Given the description of an element on the screen output the (x, y) to click on. 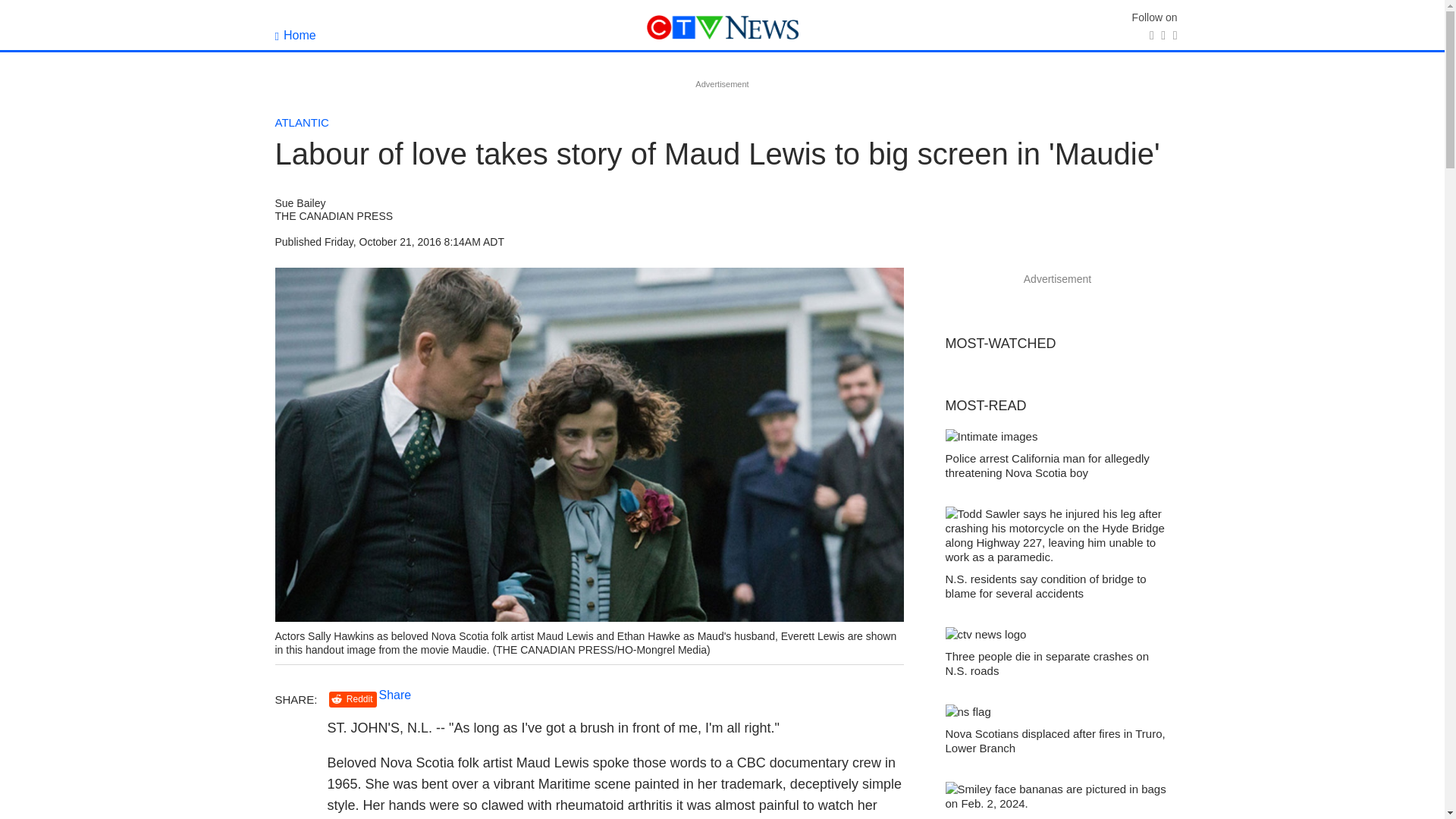
Share (395, 694)
ATLANTIC (302, 122)
Home (295, 34)
Reddit (353, 699)
